Given the description of an element on the screen output the (x, y) to click on. 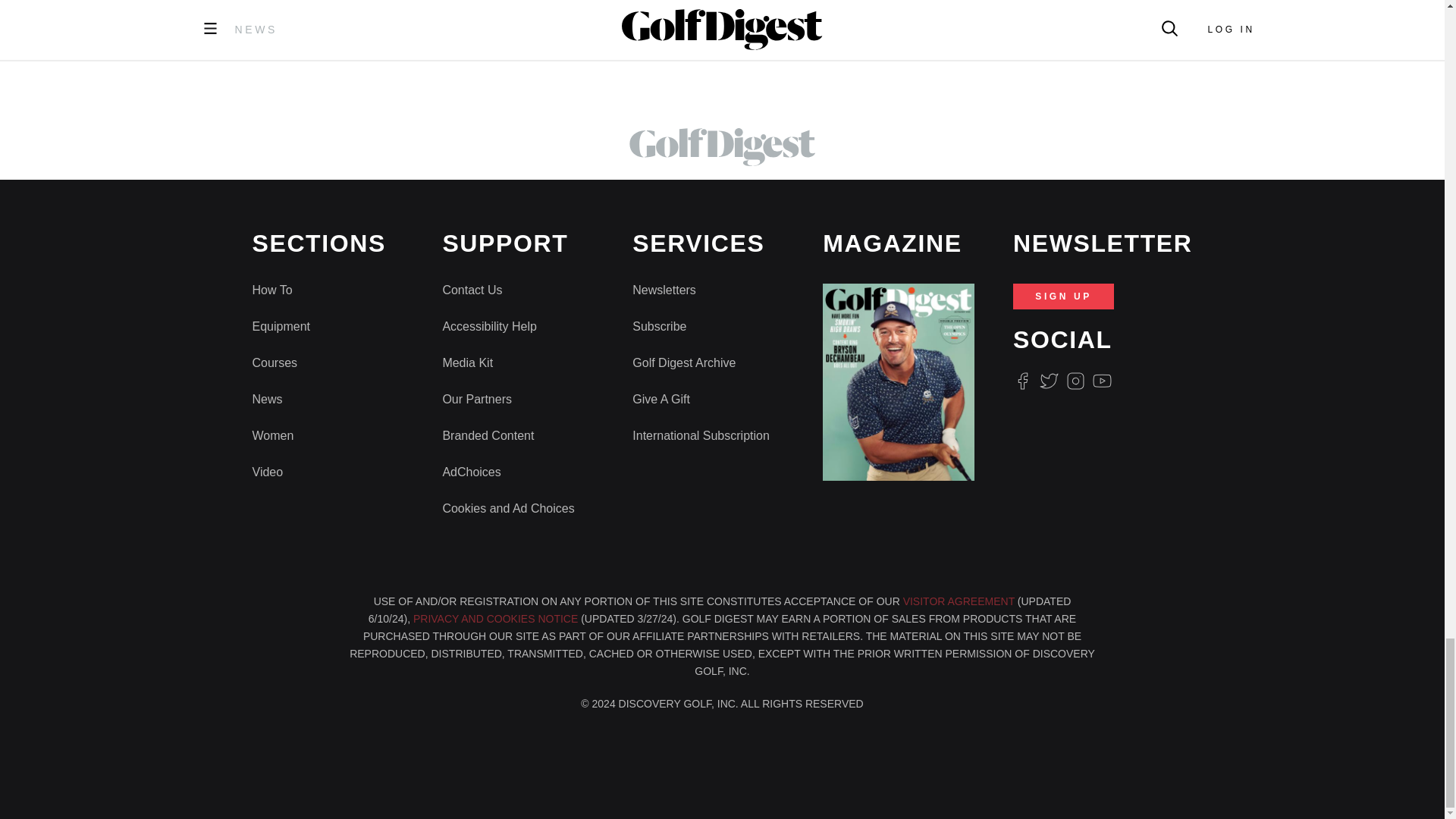
Facebook Logo (1022, 380)
Youtube Icon (1102, 380)
Twitter Logo (1048, 380)
Instagram Logo (1074, 380)
